Given the description of an element on the screen output the (x, y) to click on. 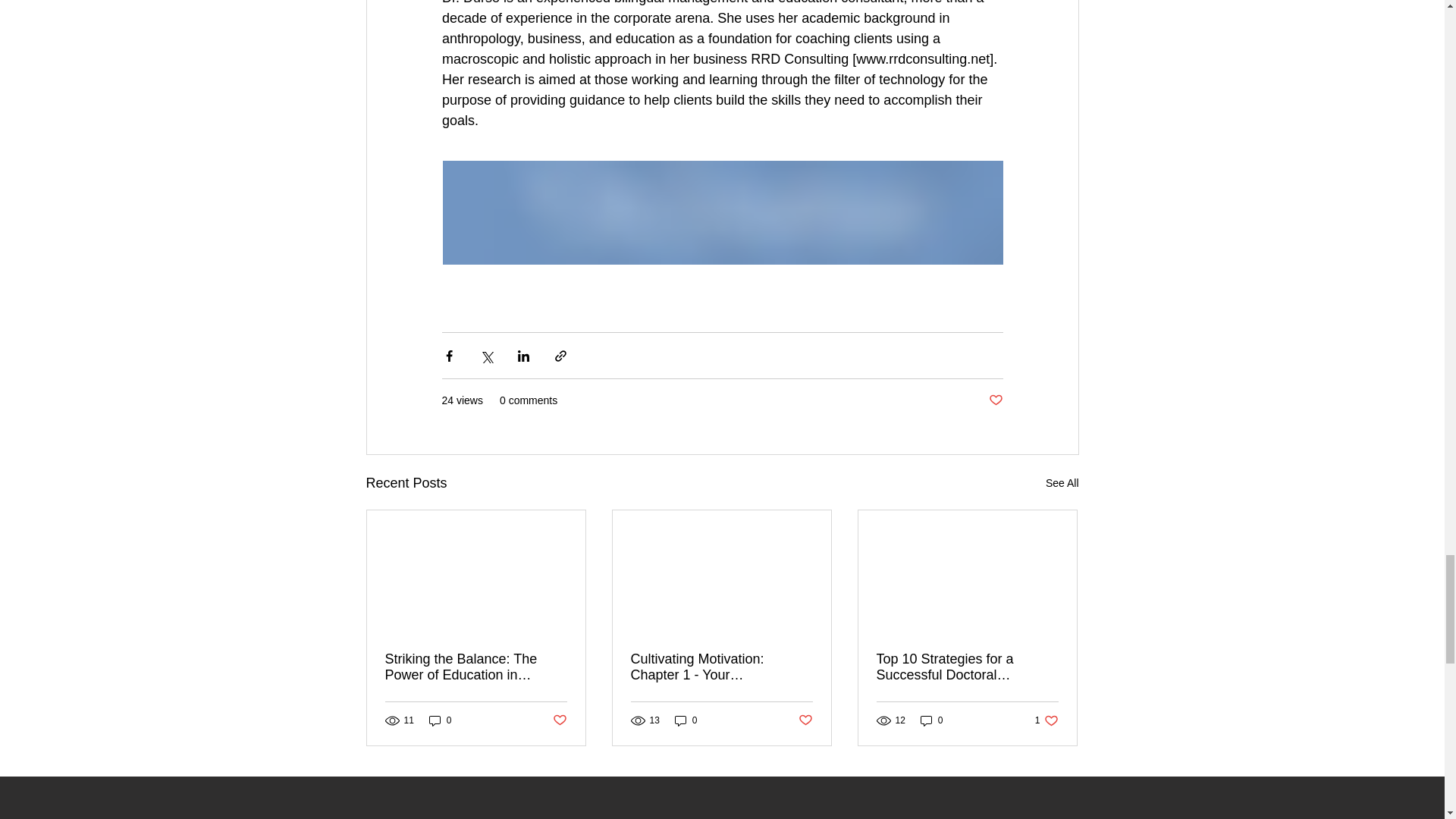
Post not marked as liked (995, 400)
0 (440, 720)
0 (685, 720)
Post not marked as liked (558, 720)
0 (931, 720)
See All (1061, 483)
Post not marked as liked (804, 720)
